Given the description of an element on the screen output the (x, y) to click on. 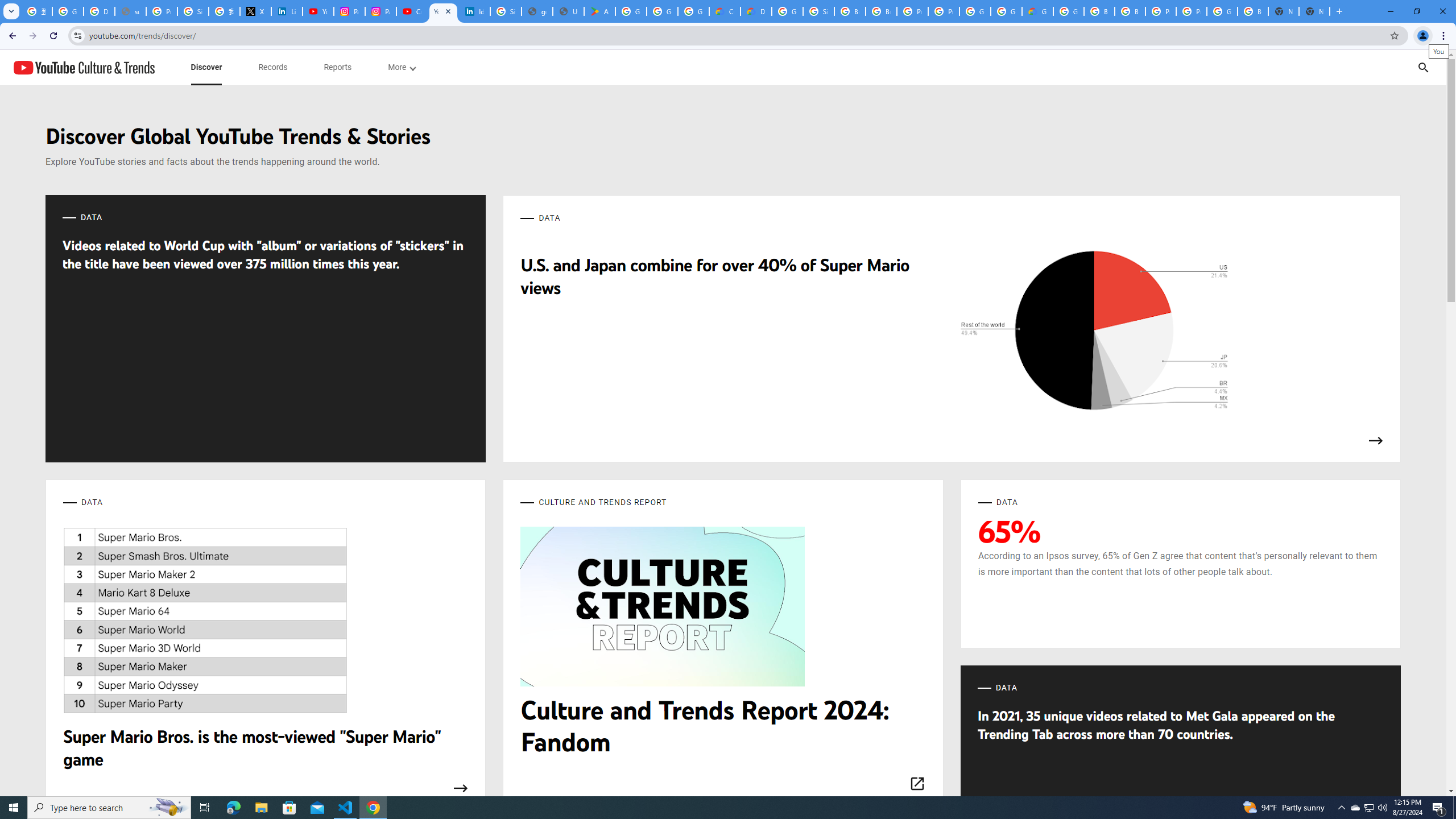
subnav-More menupopup (401, 67)
X (255, 11)
